Given the description of an element on the screen output the (x, y) to click on. 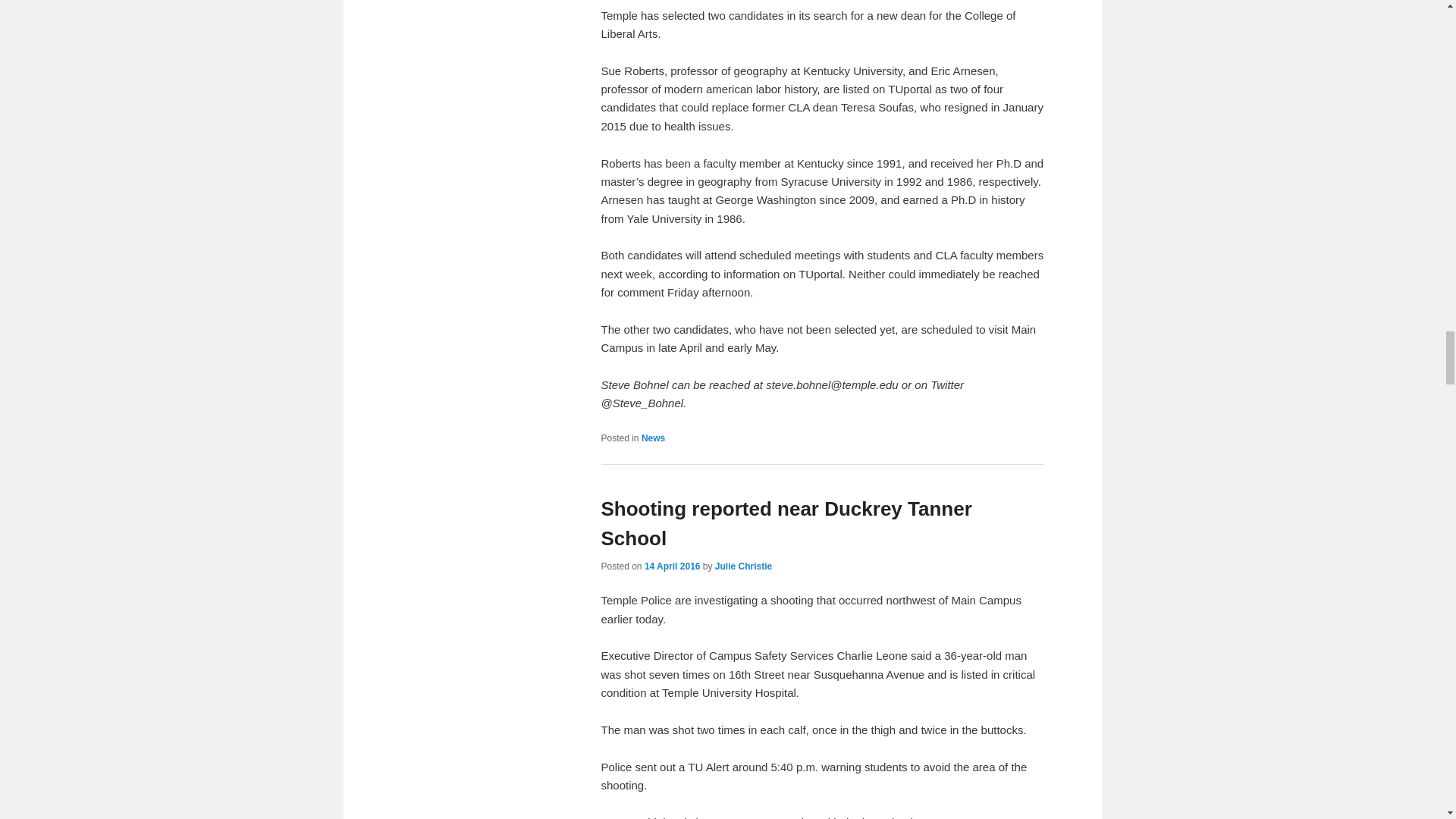
News (653, 438)
14 April 2016 (672, 566)
Julie Christie (742, 566)
Shooting reported near Duckrey Tanner School (785, 523)
View all posts by Julie Christie (742, 566)
18:49 (672, 566)
